Given the description of an element on the screen output the (x, y) to click on. 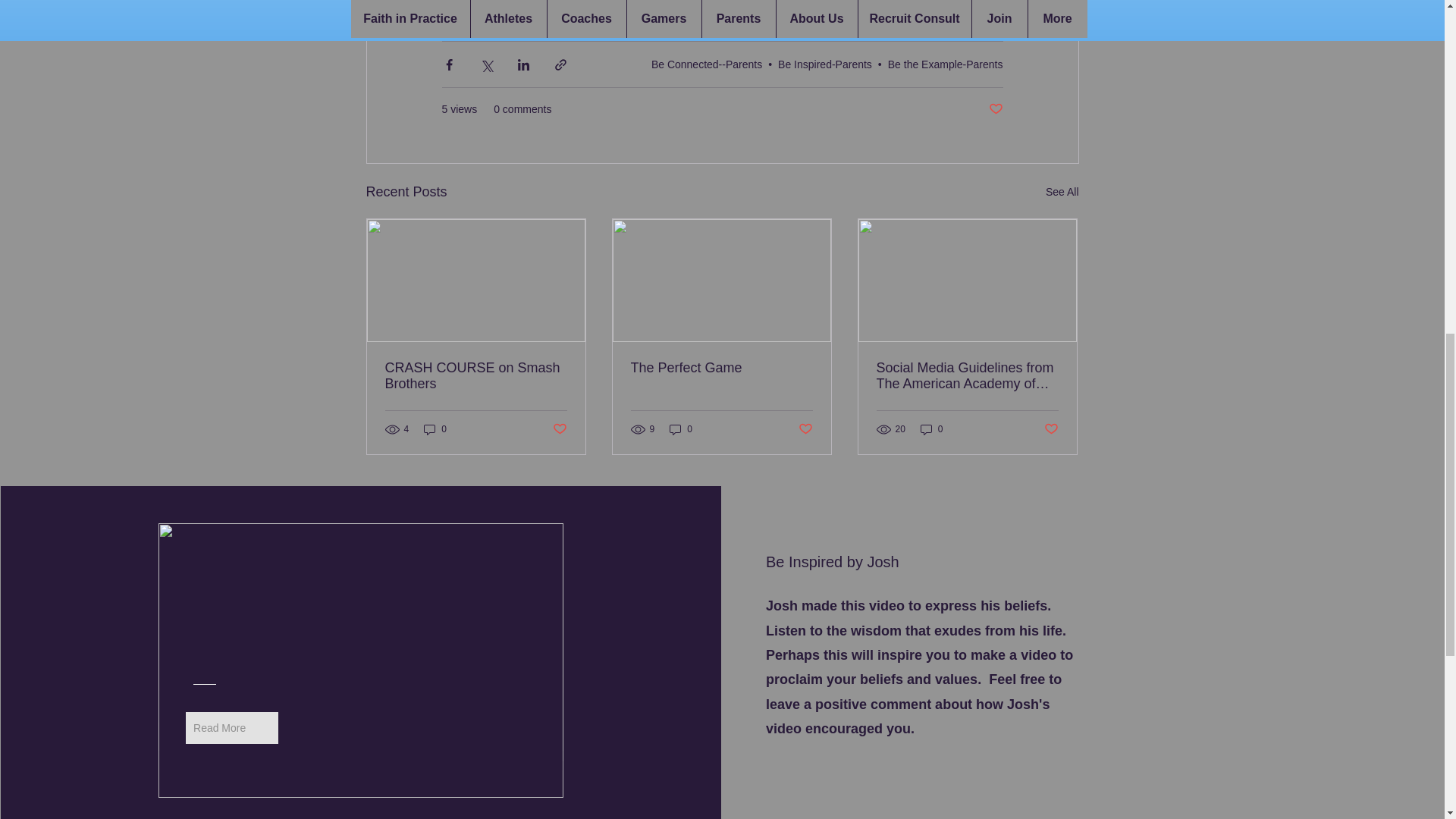
Be Inspired-Parents (824, 64)
Be the Example-Parents (945, 64)
See All (1061, 191)
0 (435, 429)
Post not marked as liked (995, 109)
Be Connected--Parents (705, 64)
CRASH COURSE on Smash Brothers (476, 376)
